Given the description of an element on the screen output the (x, y) to click on. 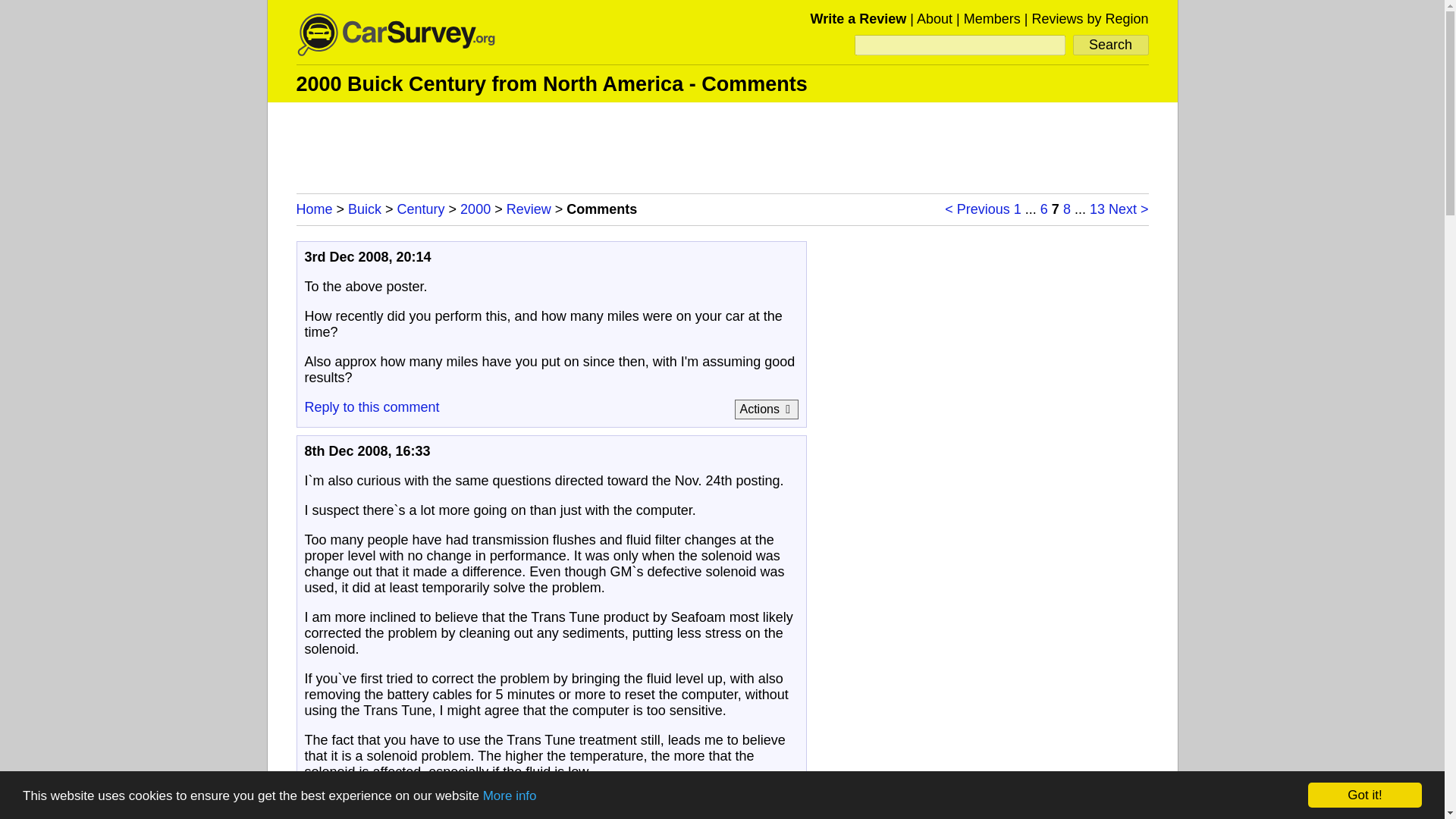
Advertisement (722, 143)
Buick (364, 209)
Members (991, 18)
Actions (766, 409)
Search (1109, 45)
Century (421, 209)
Reply to this comment (371, 406)
13 (1097, 209)
2000 (475, 209)
Review (528, 209)
Search (1109, 45)
Write a Review (858, 18)
Reviews by Region (1089, 18)
Home (313, 209)
About (934, 18)
